Given the description of an element on the screen output the (x, y) to click on. 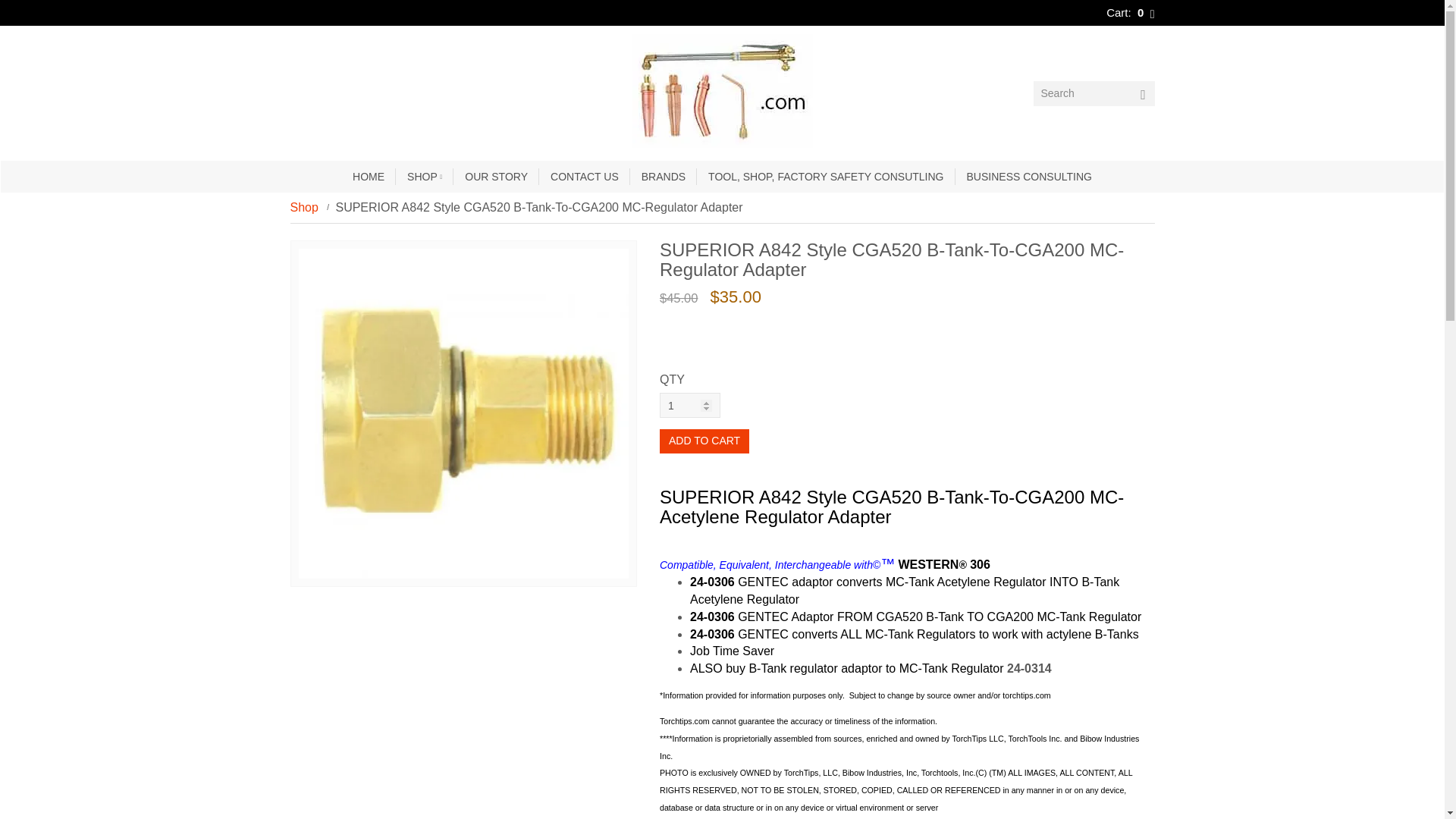
HOME (368, 176)
1 (689, 405)
Cart:  0   (1130, 11)
CONTACT US (584, 176)
SHOP (424, 176)
BUSINESS CONSULTING (1029, 176)
OUR STORY (495, 176)
Add to Cart (704, 441)
BRANDS (663, 176)
TOOL, SHOP, FACTORY SAFETY CONSUTLING (826, 176)
Add to Cart (704, 441)
Shop (303, 206)
